Given the description of an element on the screen output the (x, y) to click on. 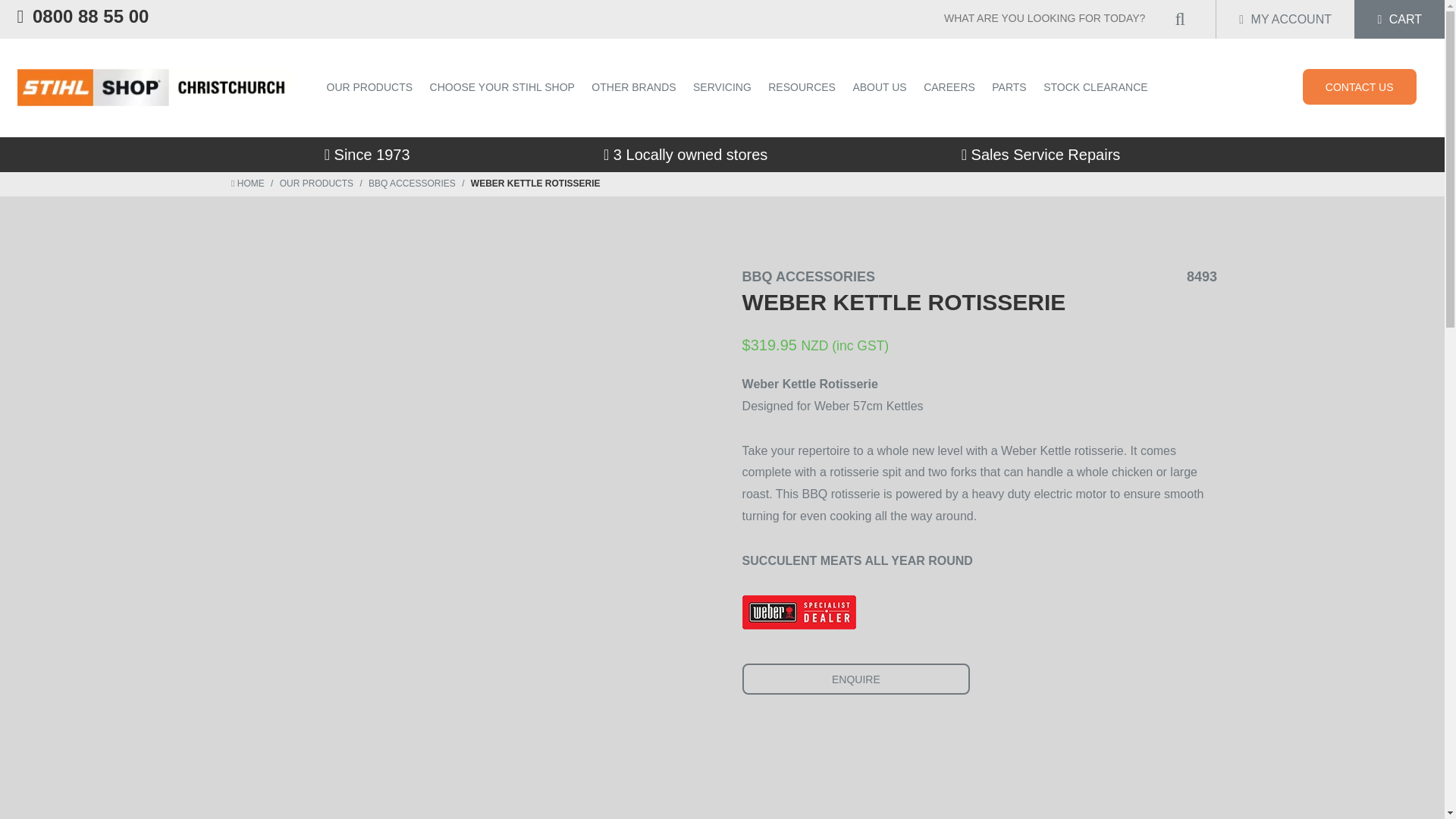
Search for: (1053, 18)
